Given the description of an element on the screen output the (x, y) to click on. 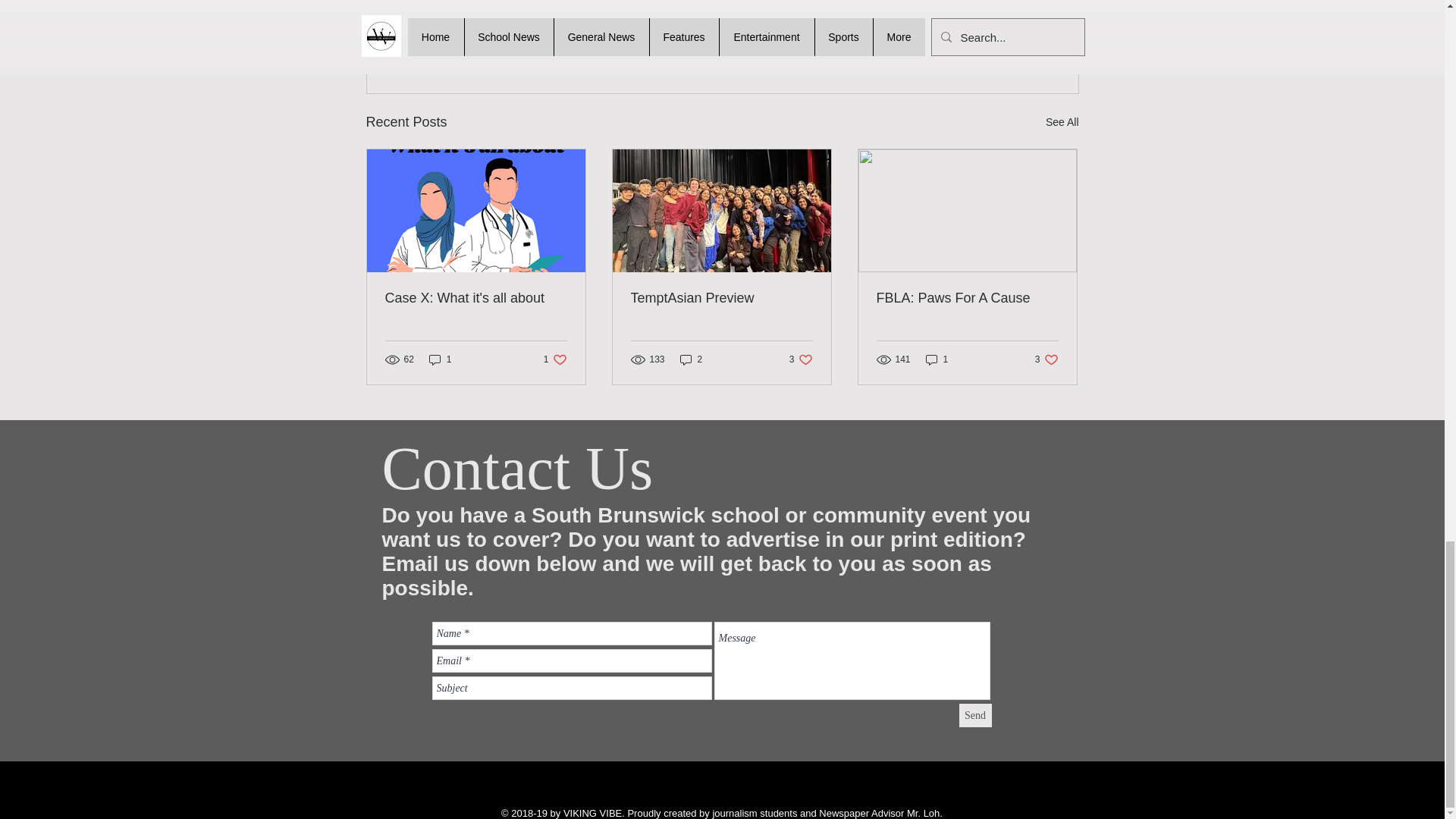
Case X: What it's all about (990, 39)
See All (476, 298)
1 (1061, 122)
